Given the description of an element on the screen output the (x, y) to click on. 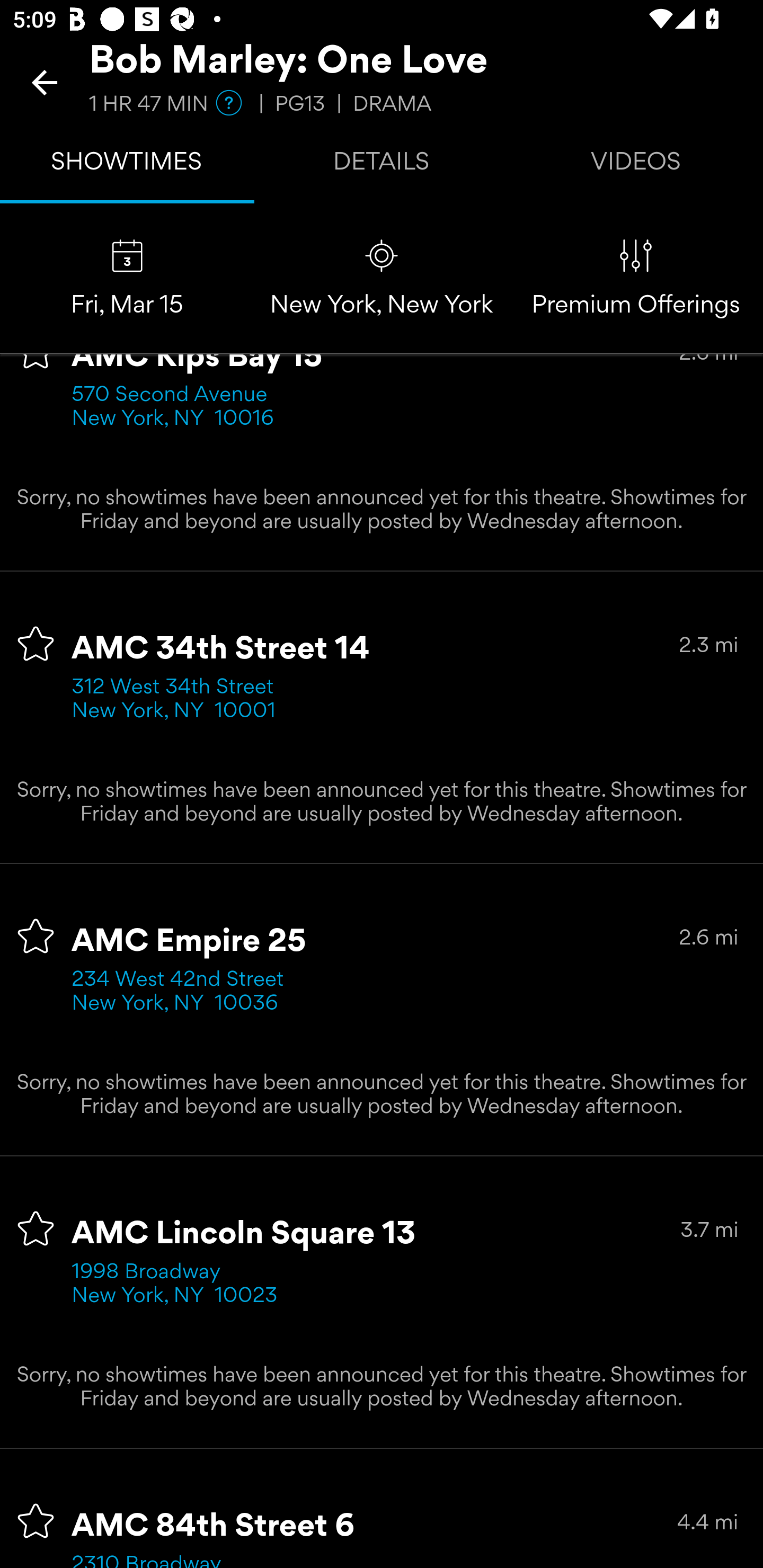
Back (44, 82)
SHOWTIMES
Tab 1 of 3 (127, 165)
DETAILS
Tab 2 of 3 (381, 165)
VIDEOS
Tab 3 of 3 (635, 165)
Change selected day
Fri, Mar 15 (127, 279)
Change location
New York, New York (381, 279)
Premium Offerings
Premium Offerings (635, 279)
570 Second Avenue  
New York, NY  10016 (175, 407)
AMC 34th Street 14 (220, 649)
312 West 34th Street  
New York, NY  10001 (178, 698)
AMC Empire 25 (188, 941)
234 West 42nd Street  
New York, NY  10036 (183, 992)
AMC Lincoln Square 13 (243, 1234)
1998 Broadway  
New York, NY  10023 (174, 1283)
AMC 84th Street 6 (213, 1526)
